Given the description of an element on the screen output the (x, y) to click on. 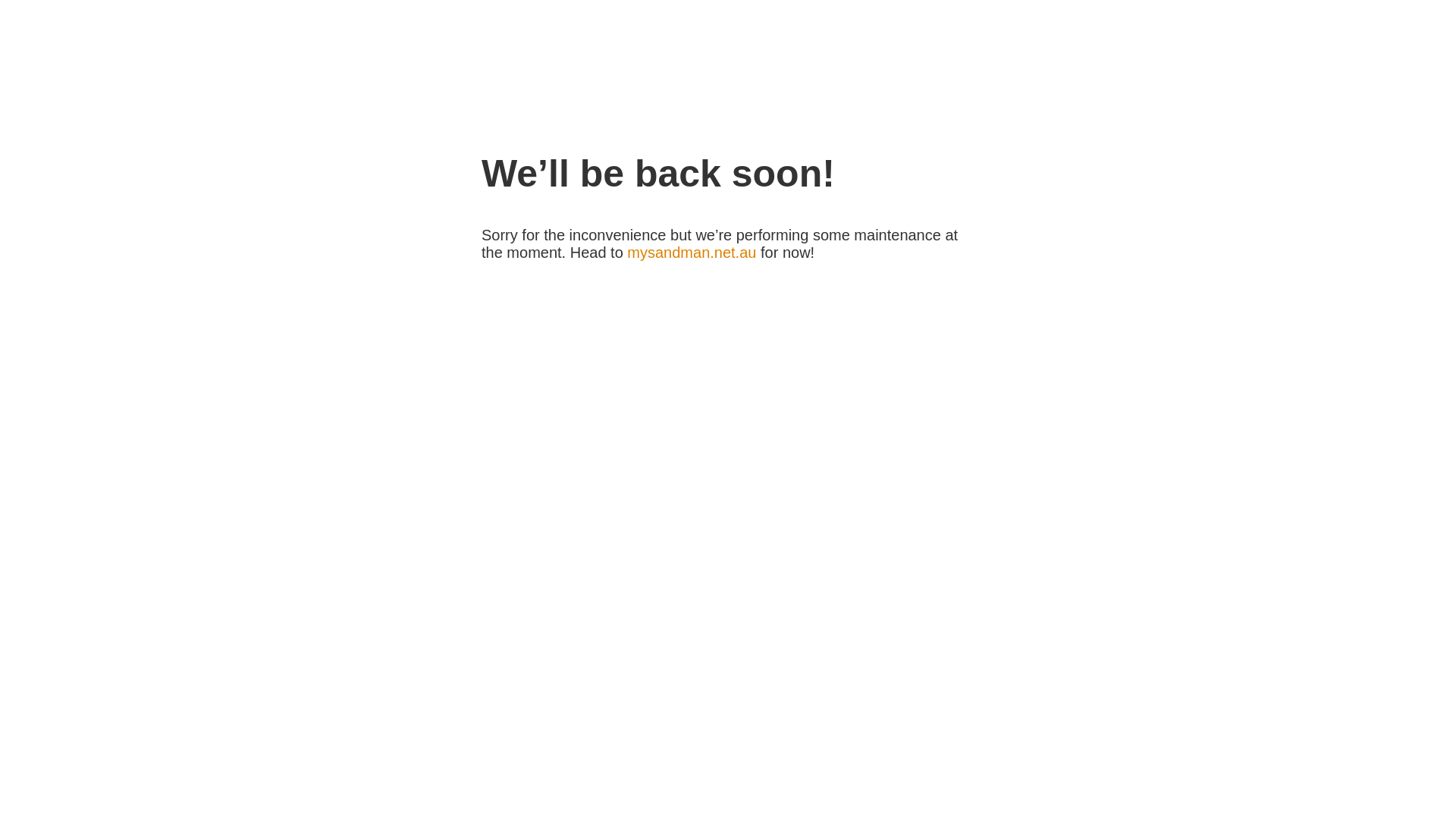
mysandman.net.au Element type: text (691, 252)
